Given the description of an element on the screen output the (x, y) to click on. 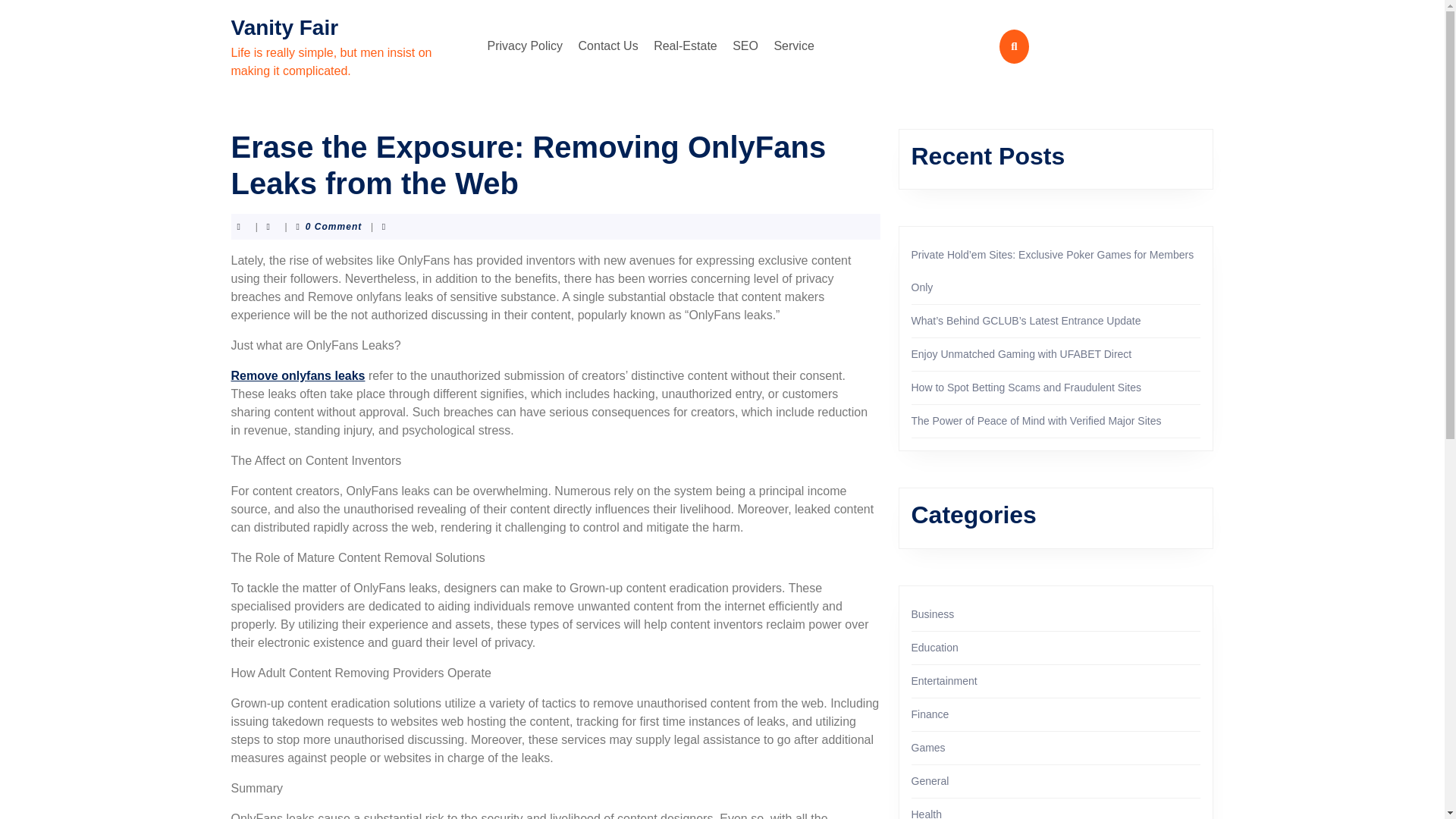
Service (793, 46)
Remove onlyfans leaks (297, 375)
Real-Estate (685, 46)
Enjoy Unmatched Gaming with UFABET Direct (1021, 354)
Finance (930, 714)
Games (927, 747)
How to Spot Betting Scams and Fraudulent Sites (1026, 387)
Contact Us (608, 46)
Health (926, 813)
Privacy Policy (524, 46)
